Given the description of an element on the screen output the (x, y) to click on. 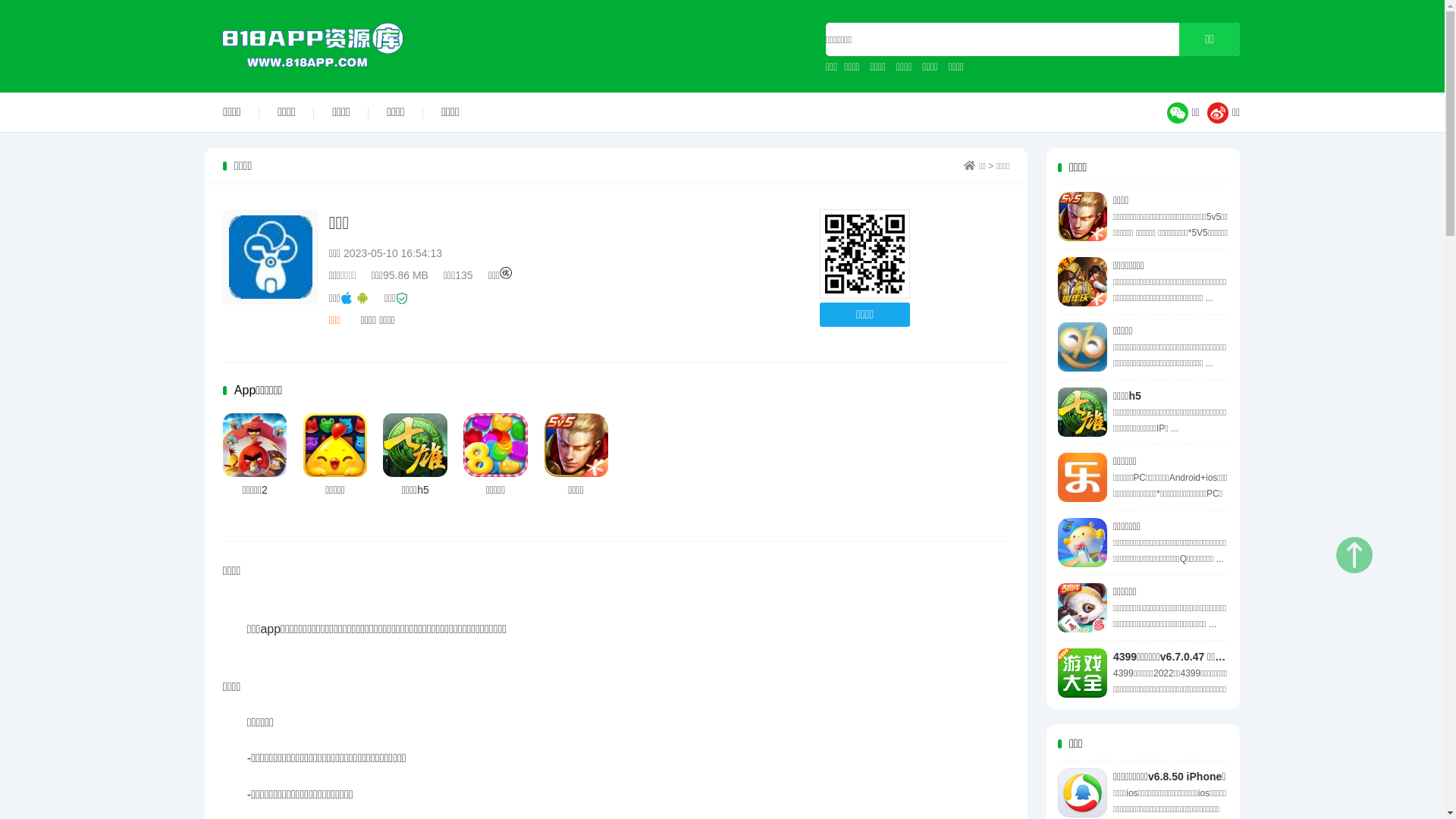
http://www.818app.com Element type: hover (864, 254)
